Given the description of an element on the screen output the (x, y) to click on. 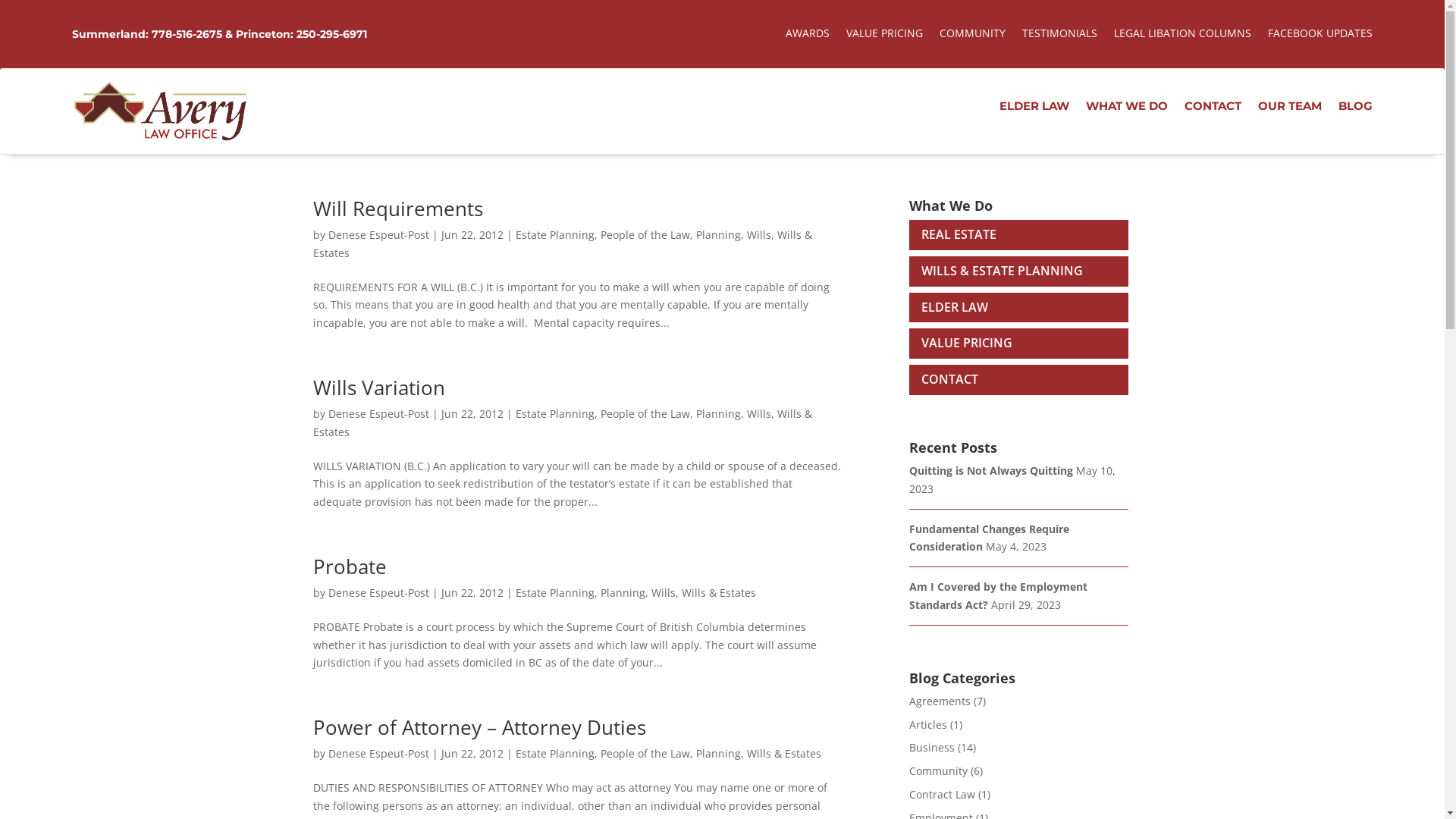
Denese Espeut-Post Element type: text (377, 592)
Business Element type: text (930, 747)
FACEBOOK UPDATES Element type: text (1319, 36)
Planning Element type: text (718, 753)
OUR TEAM Element type: text (1289, 108)
Community Element type: text (937, 770)
People of the Law Element type: text (645, 413)
Planning Element type: text (718, 413)
Wills Element type: text (758, 234)
REAL ESTATE Element type: text (951, 233)
ELDER LAW Element type: text (947, 306)
Wills & Estates Element type: text (717, 592)
CONTACT Element type: text (942, 378)
People of the Law Element type: text (645, 234)
Estate Planning Element type: text (554, 413)
VALUE PRICING Element type: text (959, 342)
People of the Law Element type: text (645, 753)
VALUE PRICING Element type: text (884, 36)
BLOG Element type: text (1355, 108)
Wills & Estates Element type: text (783, 753)
Planning Element type: text (718, 234)
Articles Element type: text (927, 724)
WILLS & ESTATE PLANNING Element type: text (995, 270)
TESTIMONIALS Element type: text (1059, 36)
Am I Covered by the Employment Standards Act? Element type: text (997, 595)
Fundamental Changes Require Consideration Element type: text (988, 537)
Will Requirements Element type: text (397, 208)
ELDER LAW Element type: text (1034, 108)
LEGAL LIBATION COLUMNS Element type: text (1182, 36)
AWARDS Element type: text (807, 36)
Agreements Element type: text (938, 700)
Wills Element type: text (758, 413)
Planning Element type: text (622, 592)
Wills Element type: text (662, 592)
Wills Variation Element type: text (378, 387)
Denese Espeut-Post Element type: text (377, 413)
COMMUNITY Element type: text (972, 36)
Estate Planning Element type: text (554, 753)
Contract Law Element type: text (941, 794)
Denese Espeut-Post Element type: text (377, 753)
CONTACT Element type: text (1212, 108)
Estate Planning Element type: text (554, 592)
Wills & Estates Element type: text (561, 422)
Wills & Estates Element type: text (561, 243)
Estate Planning Element type: text (554, 234)
Probate Element type: text (348, 566)
Denese Espeut-Post Element type: text (377, 234)
WHAT WE DO Element type: text (1126, 108)
Quitting is Not Always Quitting Element type: text (990, 470)
